Given the description of an element on the screen output the (x, y) to click on. 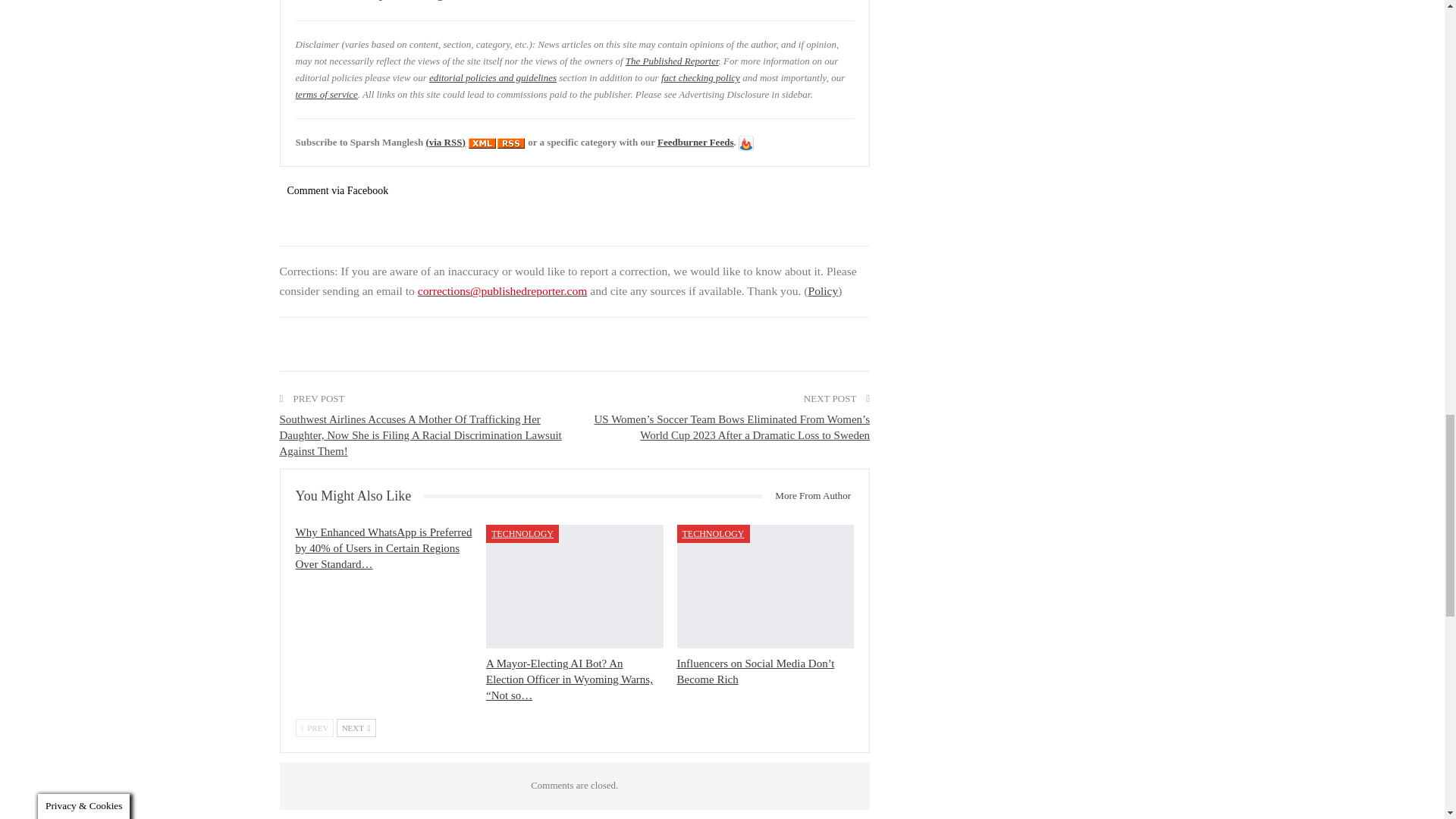
Next (355, 728)
Previous (314, 728)
